Given the description of an element on the screen output the (x, y) to click on. 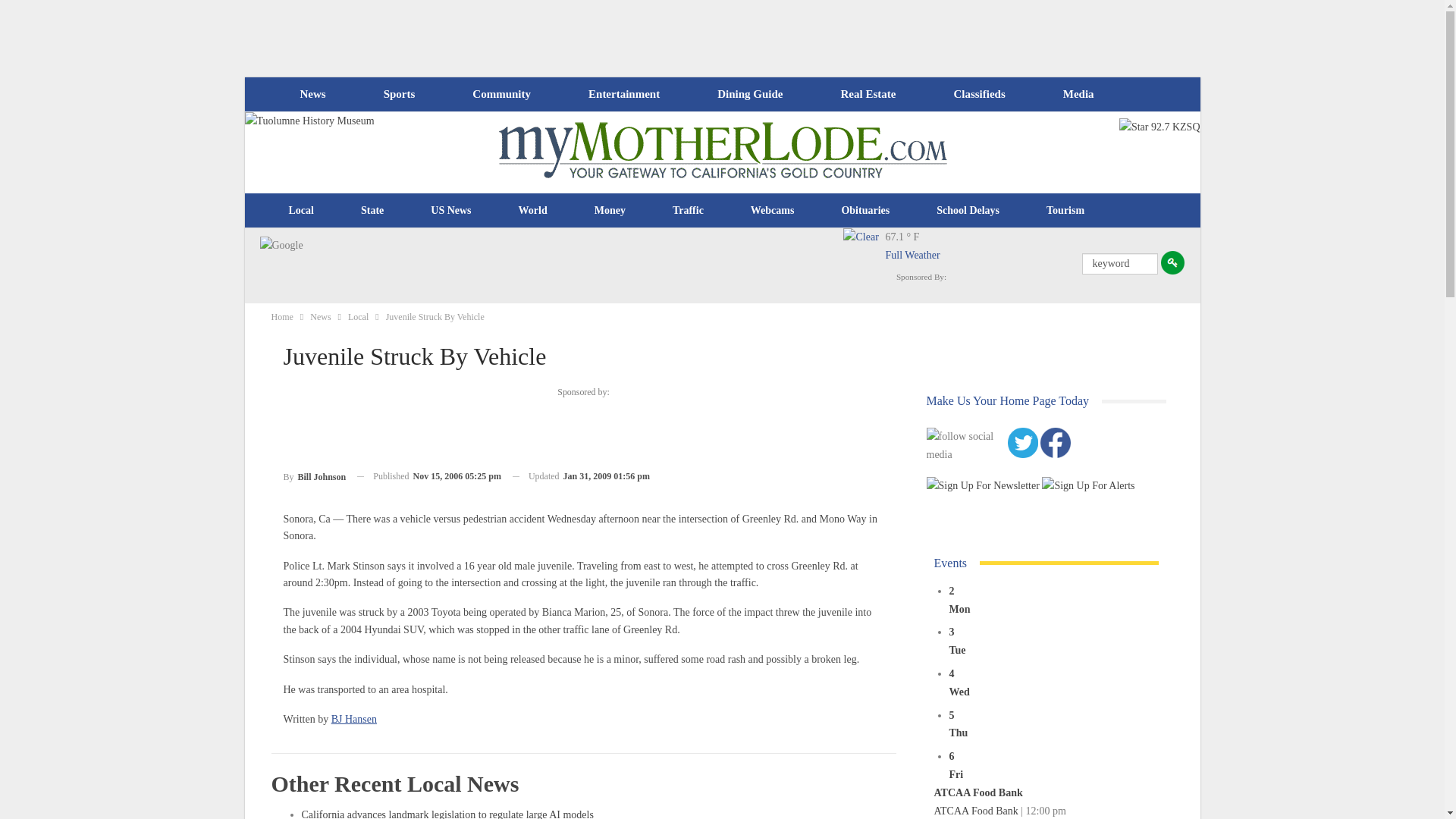
Real Estate (868, 93)
Local (300, 210)
Media (1078, 93)
Tourism (1065, 210)
News (312, 93)
Money (609, 210)
